Given the description of an element on the screen output the (x, y) to click on. 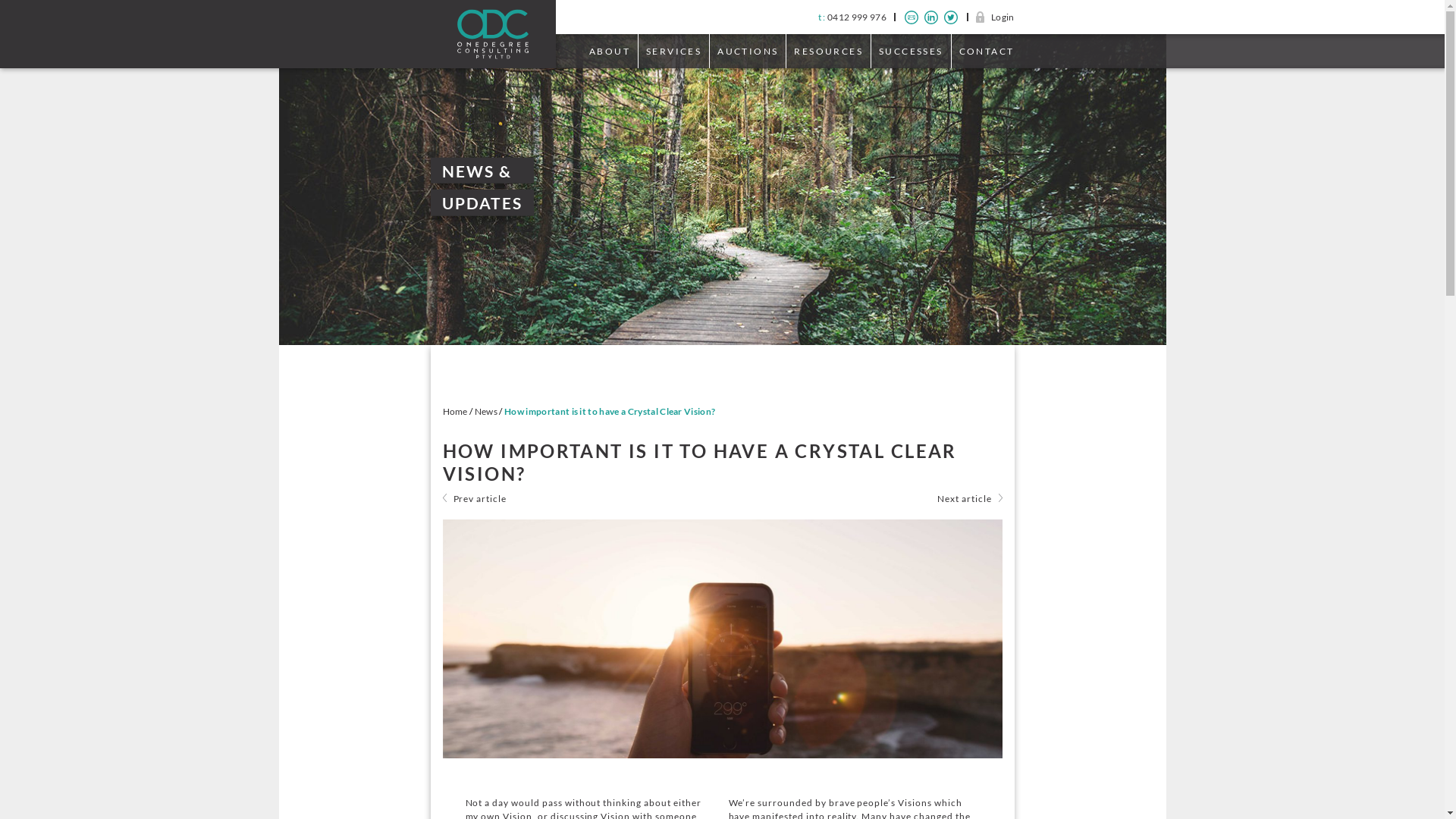
Prev article Element type: text (479, 498)
News Element type: text (485, 411)
CONTACT Element type: text (982, 51)
t : 0412 999 976 Element type: text (852, 17)
Home Element type: text (454, 411)
Login Element type: text (994, 17)
RESOURCES Element type: text (827, 51)
AUCTIONS Element type: text (747, 51)
SERVICES Element type: text (673, 51)
Next article Element type: text (964, 498)
ABOUT Element type: text (609, 51)
SUCCESSES Element type: text (910, 51)
